Given the description of an element on the screen output the (x, y) to click on. 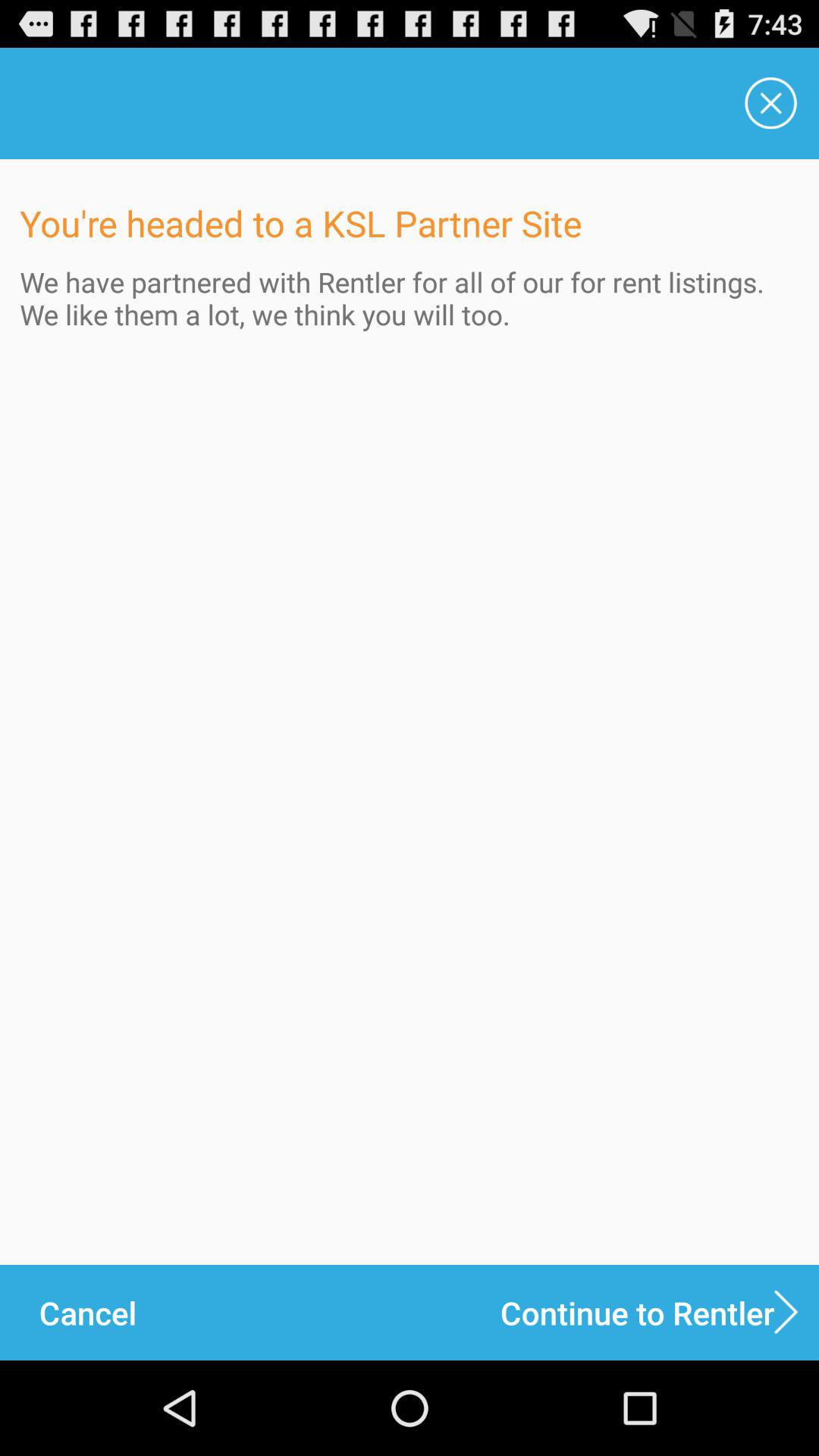
click the icon below we have partnered icon (659, 1312)
